Given the description of an element on the screen output the (x, y) to click on. 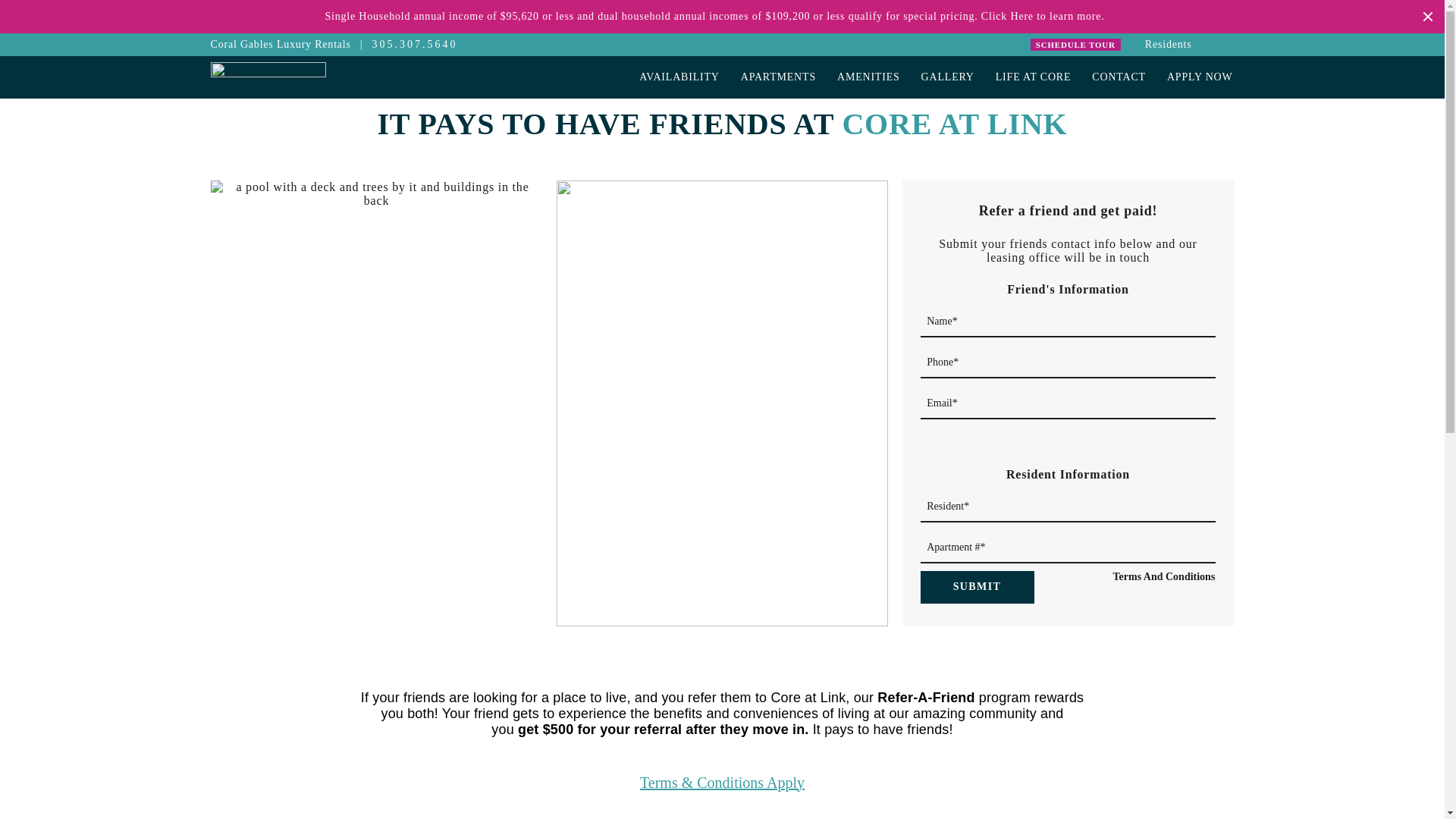
305.307.5640 (414, 44)
AVAILABILITY (679, 76)
APARTMENTS (778, 76)
CONTACT (1118, 76)
LIFE AT CORE (1033, 76)
SCHEDULE TOUR (1075, 44)
Resident Referral (1067, 453)
Residents (1168, 44)
Skip to Footer (49, 53)
Equal Housing Opportunity (1224, 45)
SUBMIT (976, 586)
Phone number must be 10 digits long. (1067, 361)
GALLERY (947, 76)
305.307.5640 (414, 43)
Terms And Conditions (1163, 576)
